Given the description of an element on the screen output the (x, y) to click on. 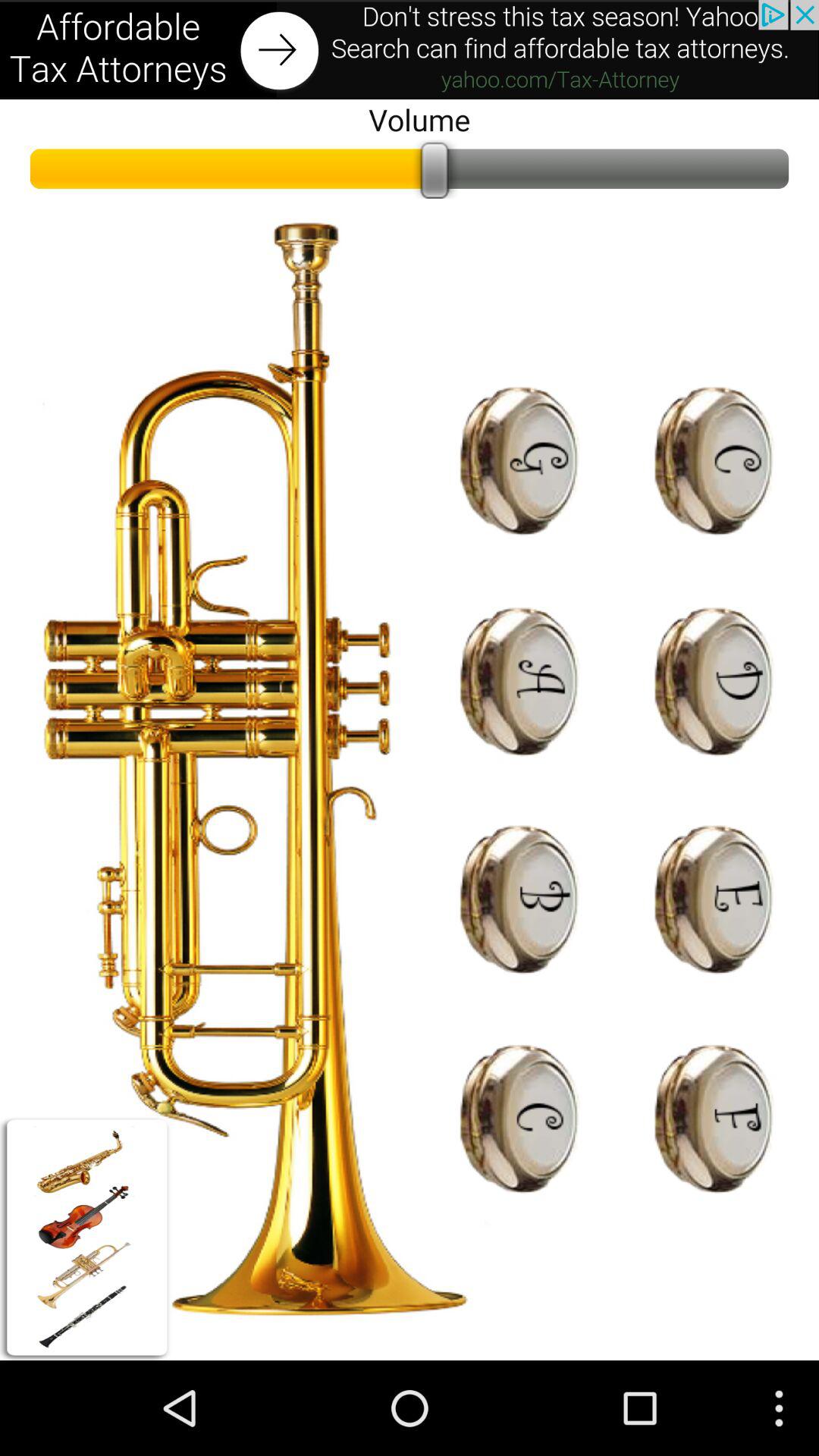
click to next option (409, 49)
